Given the description of an element on the screen output the (x, y) to click on. 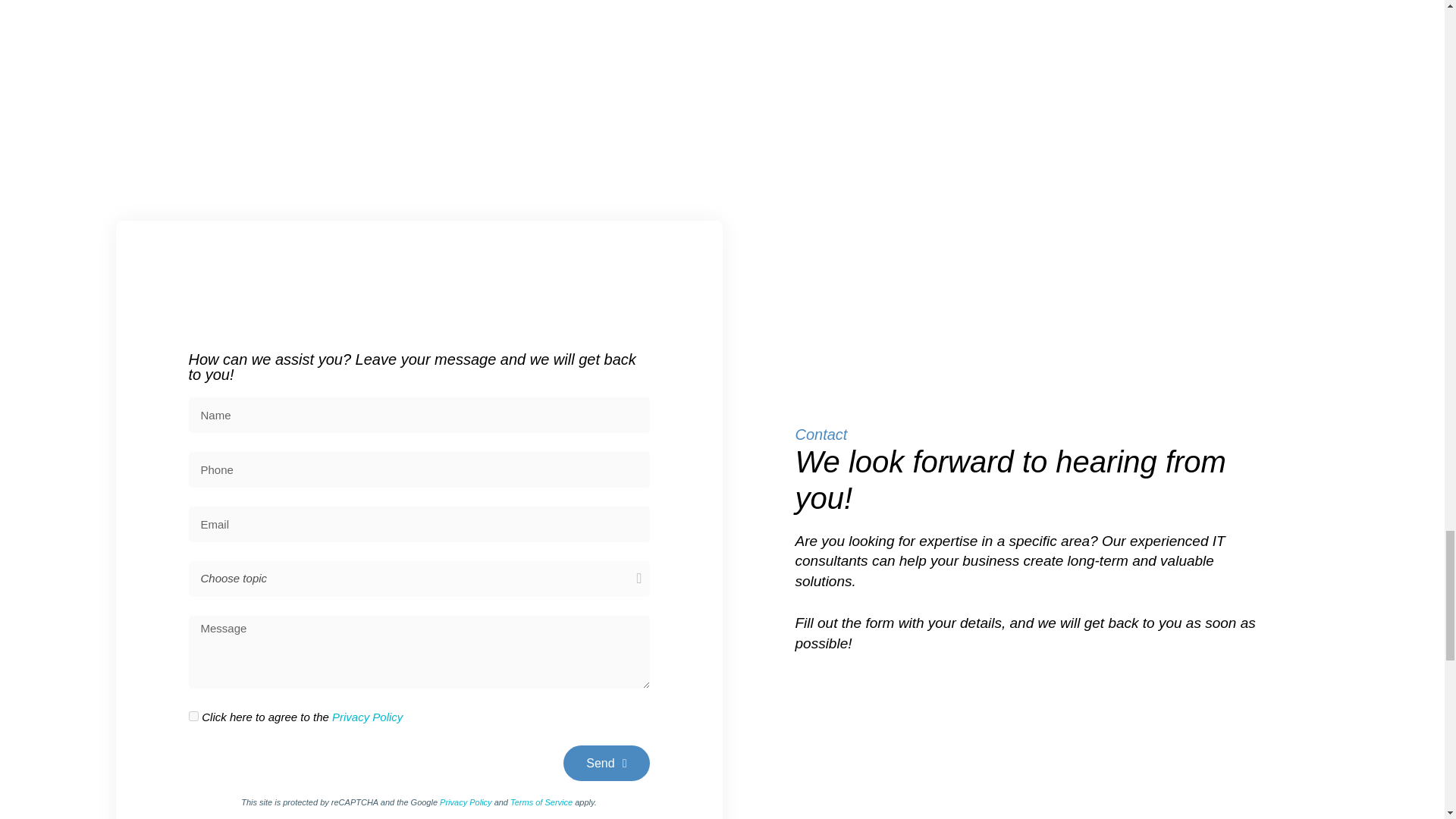
Privacy Policy (465, 801)
Send (606, 763)
Terms of Service (541, 801)
Privacy Policy (367, 716)
